Given the description of an element on the screen output the (x, y) to click on. 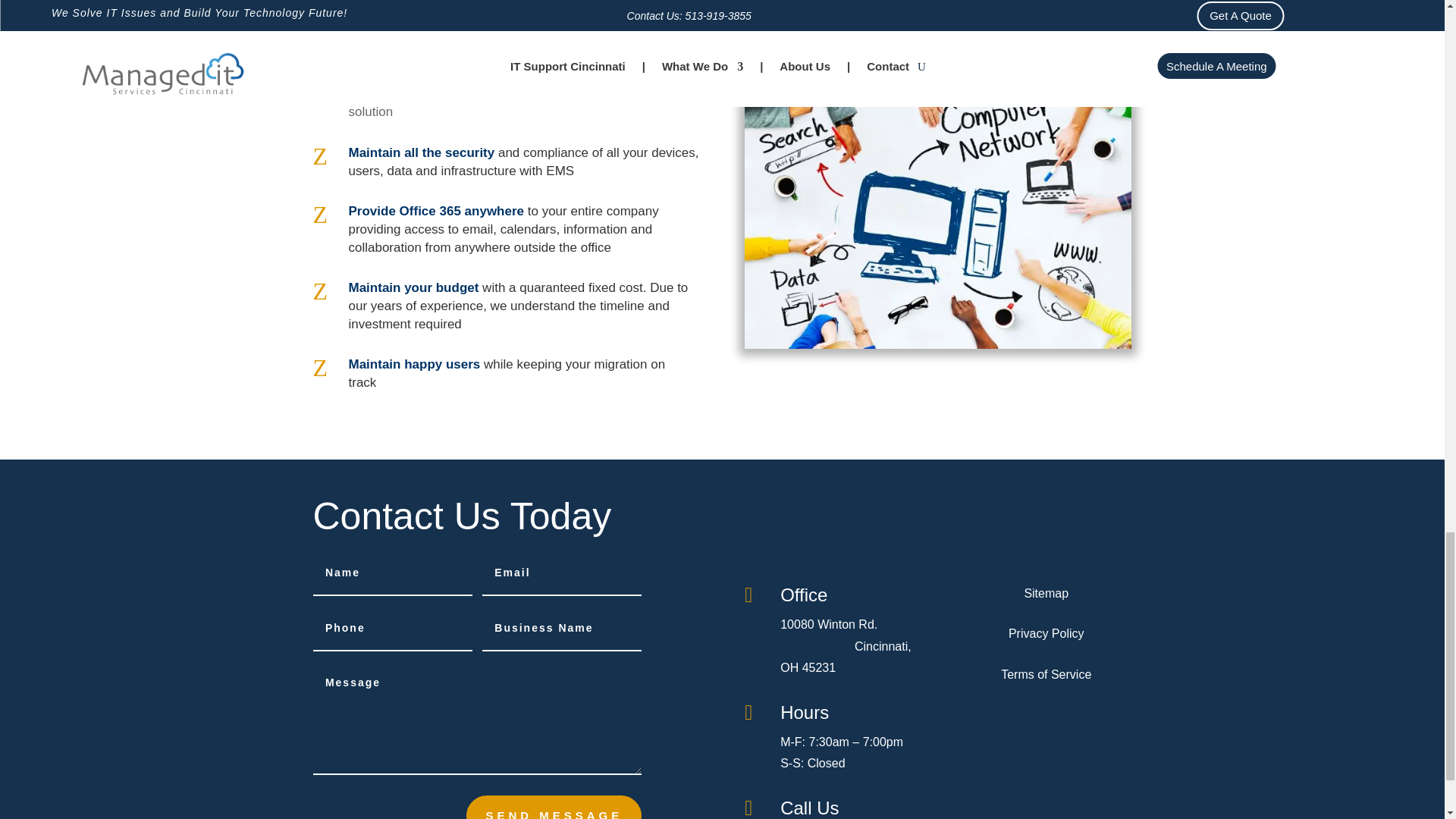
Terms of Service (1045, 674)
Support (937, 216)
Maximum length: 100 characters. (392, 628)
Maximum length: 100 characters. (392, 573)
Privacy Policy (1046, 633)
Maximum length: 100 characters. (561, 628)
Sitemap (1045, 593)
Office 365 (429, 210)
